Given the description of an element on the screen output the (x, y) to click on. 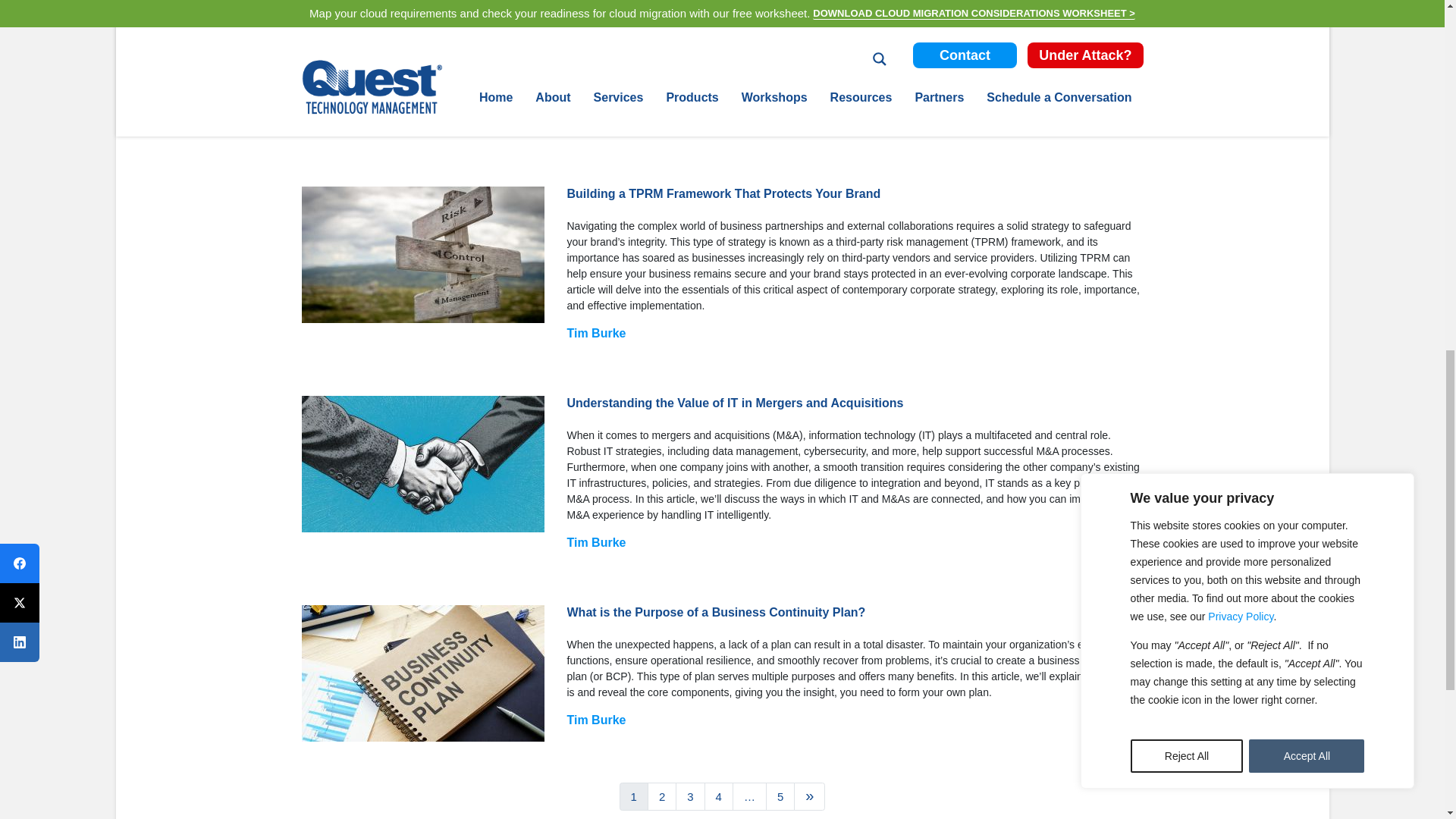
What is the Purpose of a Business Continuity Plan? (422, 673)
Understanding the Value of IT in Mergers and Acquisitions (422, 463)
Building a TPRM Framework That Protects Your Brand (422, 254)
What is Data Exfiltration and How Can You Prevent It? (422, 64)
